Given the description of an element on the screen output the (x, y) to click on. 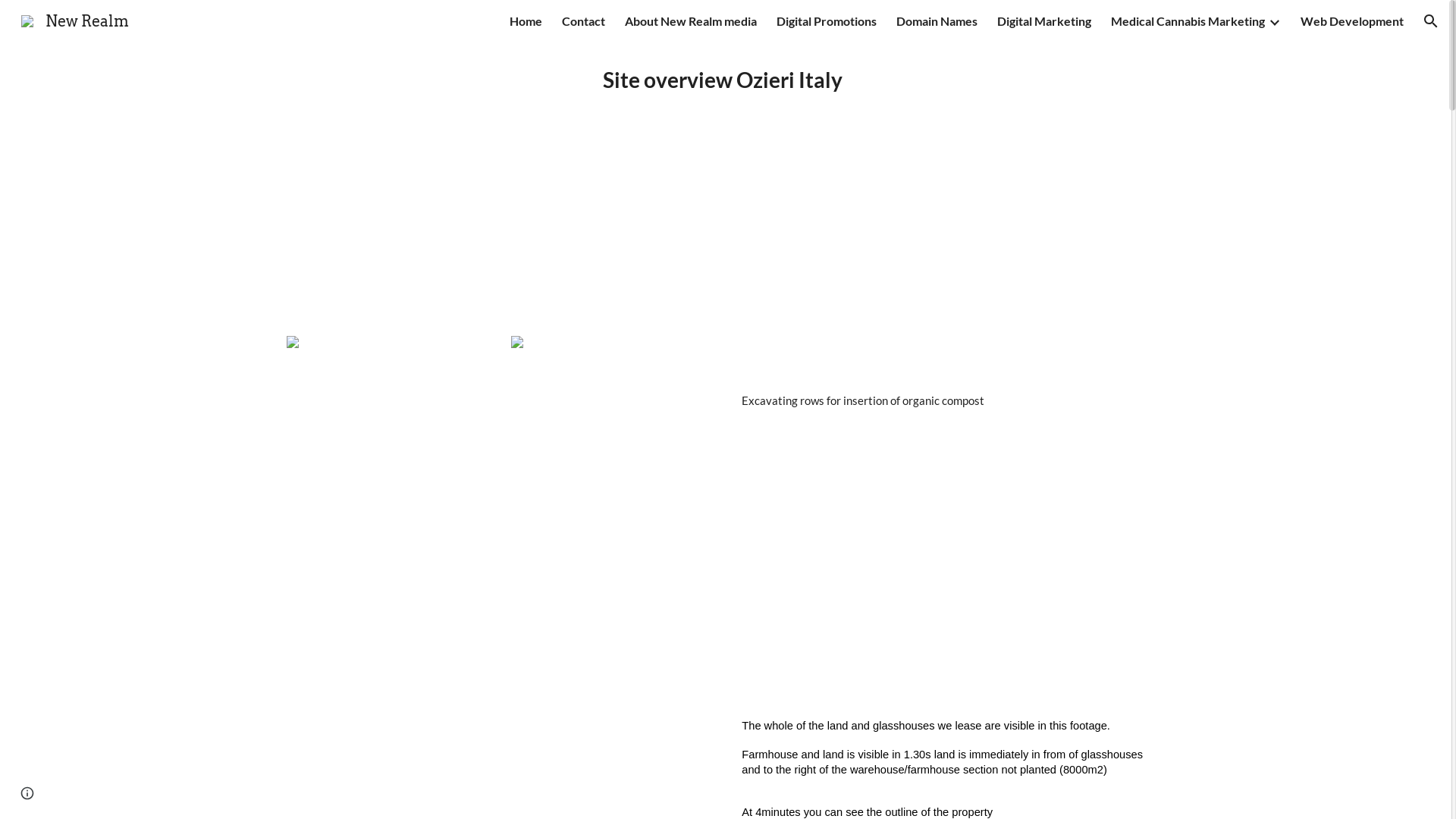
Digital Promotions Element type: text (826, 20)
New Realm Element type: text (75, 19)
Medical Cannabis Marketing Element type: text (1187, 20)
Home Element type: text (525, 20)
Domain Names Element type: text (936, 20)
Contact Element type: text (583, 20)
Digital Marketing Element type: text (1044, 20)
About New Realm media Element type: text (690, 20)
Web Development Element type: text (1351, 20)
Expand/Collapse Element type: hover (1273, 20)
